Given the description of an element on the screen output the (x, y) to click on. 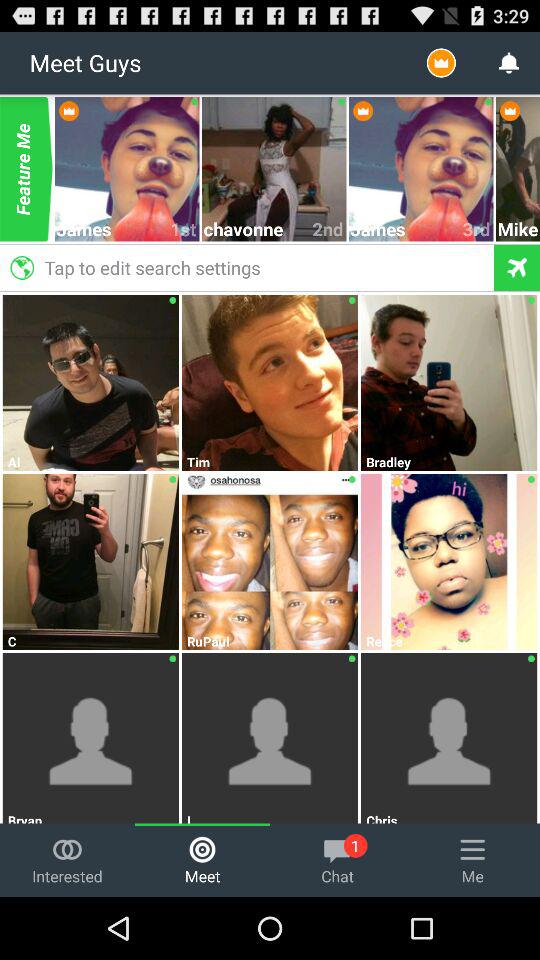
turn on c (91, 641)
